Given the description of an element on the screen output the (x, y) to click on. 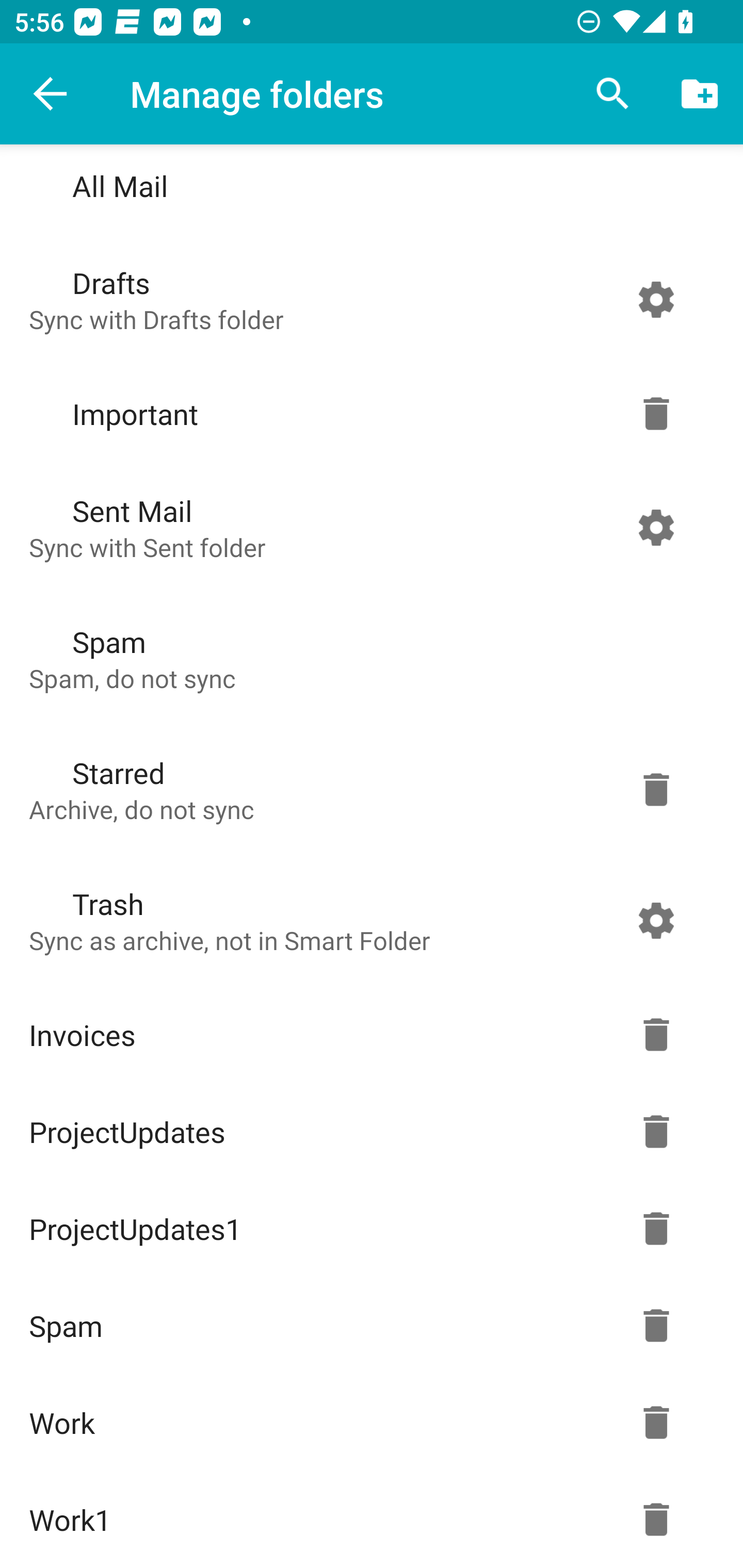
Navigate up (50, 93)
Search folders (612, 93)
Create folder (699, 93)
All Mail (367, 188)
Drafts Sync with Drafts folder Folder settings (367, 299)
Folder settings (655, 299)
Important Folder settings (367, 413)
Folder settings (655, 413)
Sent Mail Sync with Sent folder Folder settings (367, 527)
Folder settings (655, 527)
Spam Spam, do not sync (367, 658)
Starred Archive, do not sync Folder settings (367, 789)
Folder settings (655, 789)
Folder settings (655, 920)
Invoices Folder settings (367, 1034)
Folder settings (655, 1034)
ProjectUpdates Folder settings (367, 1131)
Folder settings (655, 1131)
ProjectUpdates1 Folder settings (367, 1228)
Folder settings (655, 1228)
Spam Folder settings (367, 1324)
Folder settings (655, 1324)
Work Folder settings (367, 1421)
Folder settings (655, 1421)
Work1 Folder settings (367, 1519)
Folder settings (655, 1519)
